Given the description of an element on the screen output the (x, y) to click on. 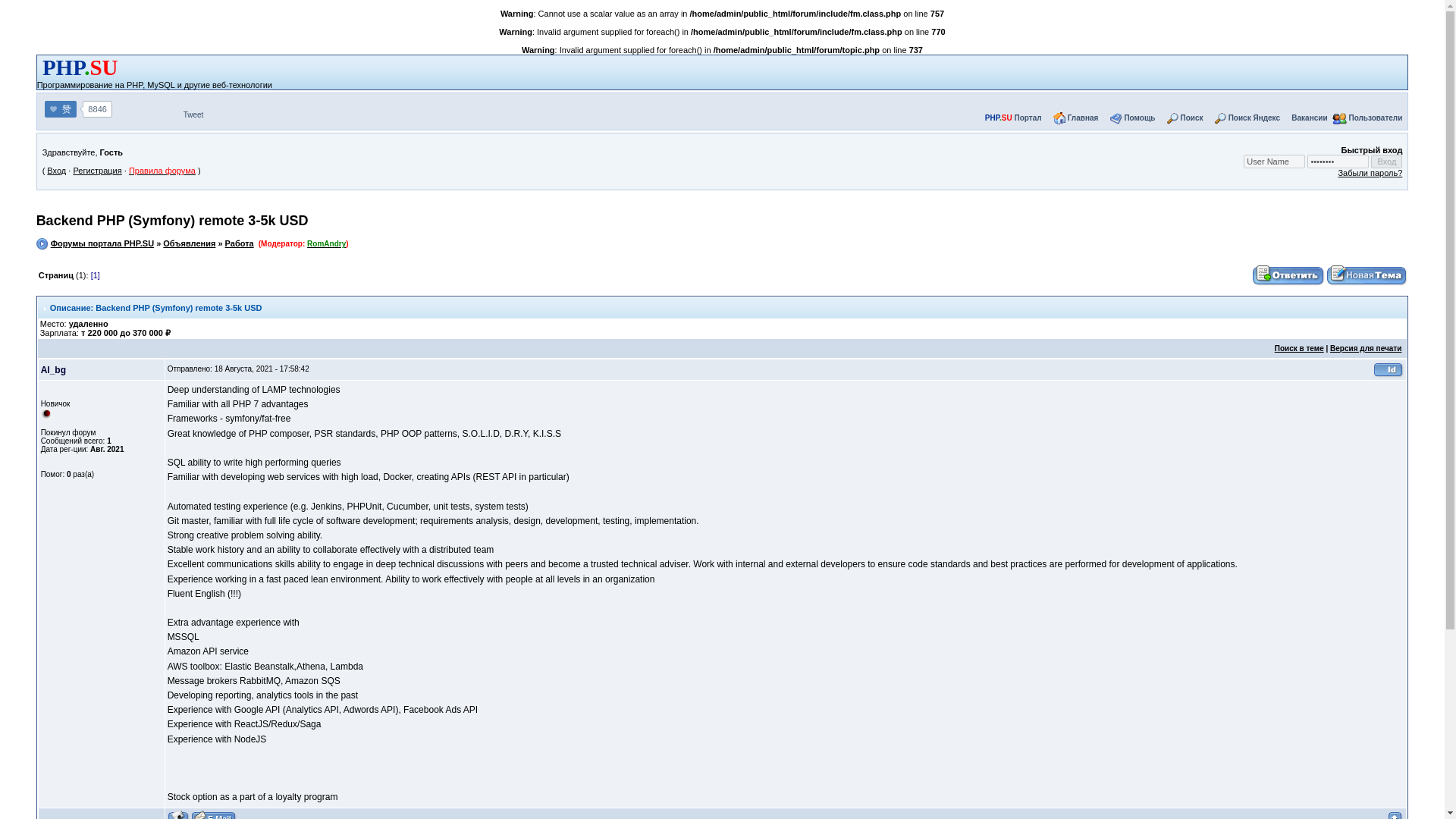
Advertisement (544, 161)
 PHP.SU (710, 72)
User Name (1273, 161)
ibfrules (1337, 161)
RomAndry (326, 243)
Tweet (193, 114)
ID (1388, 368)
